Given the description of an element on the screen output the (x, y) to click on. 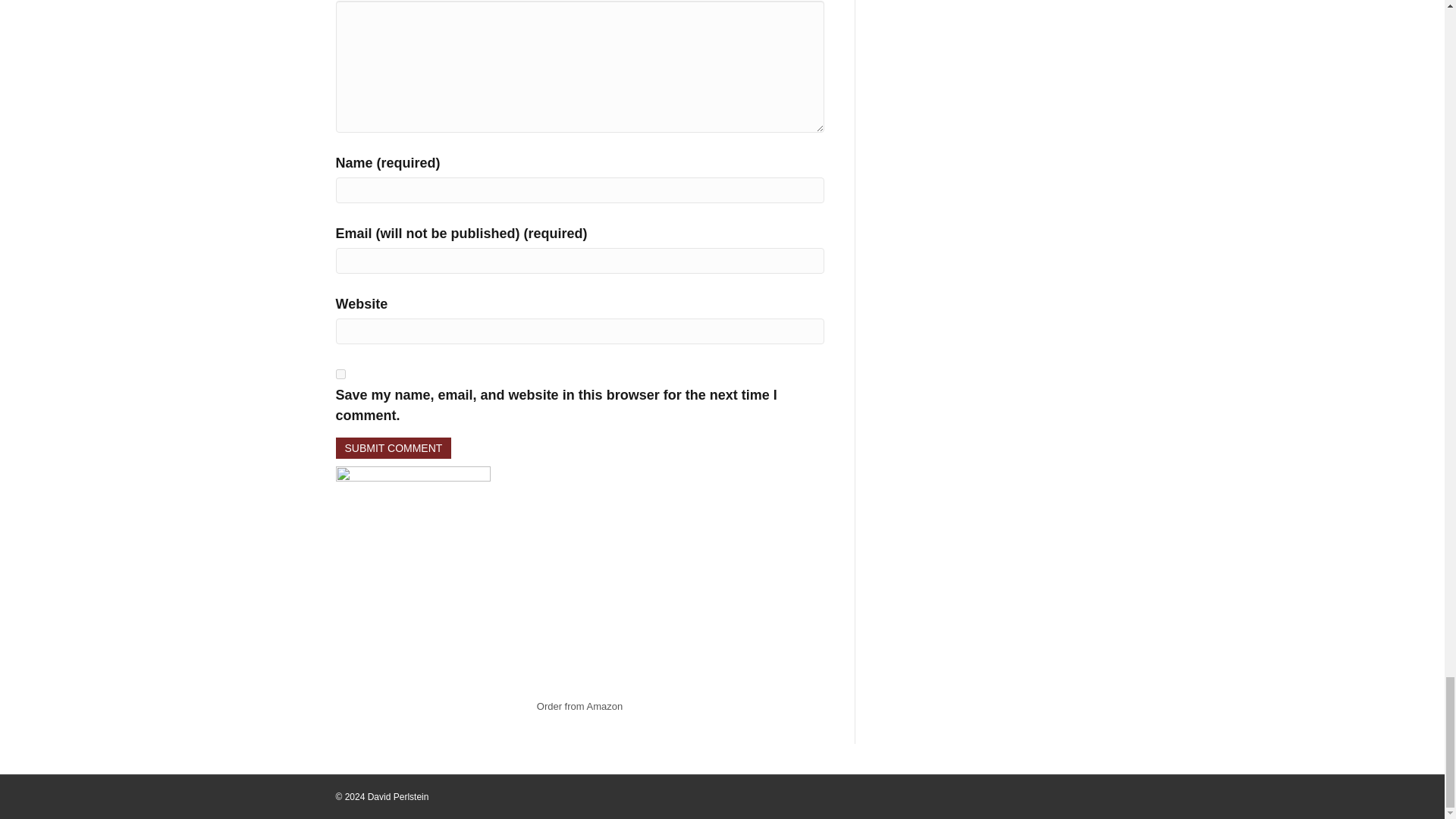
yes (339, 374)
Submit Comment (392, 448)
Submit Comment (392, 448)
